Given the description of an element on the screen output the (x, y) to click on. 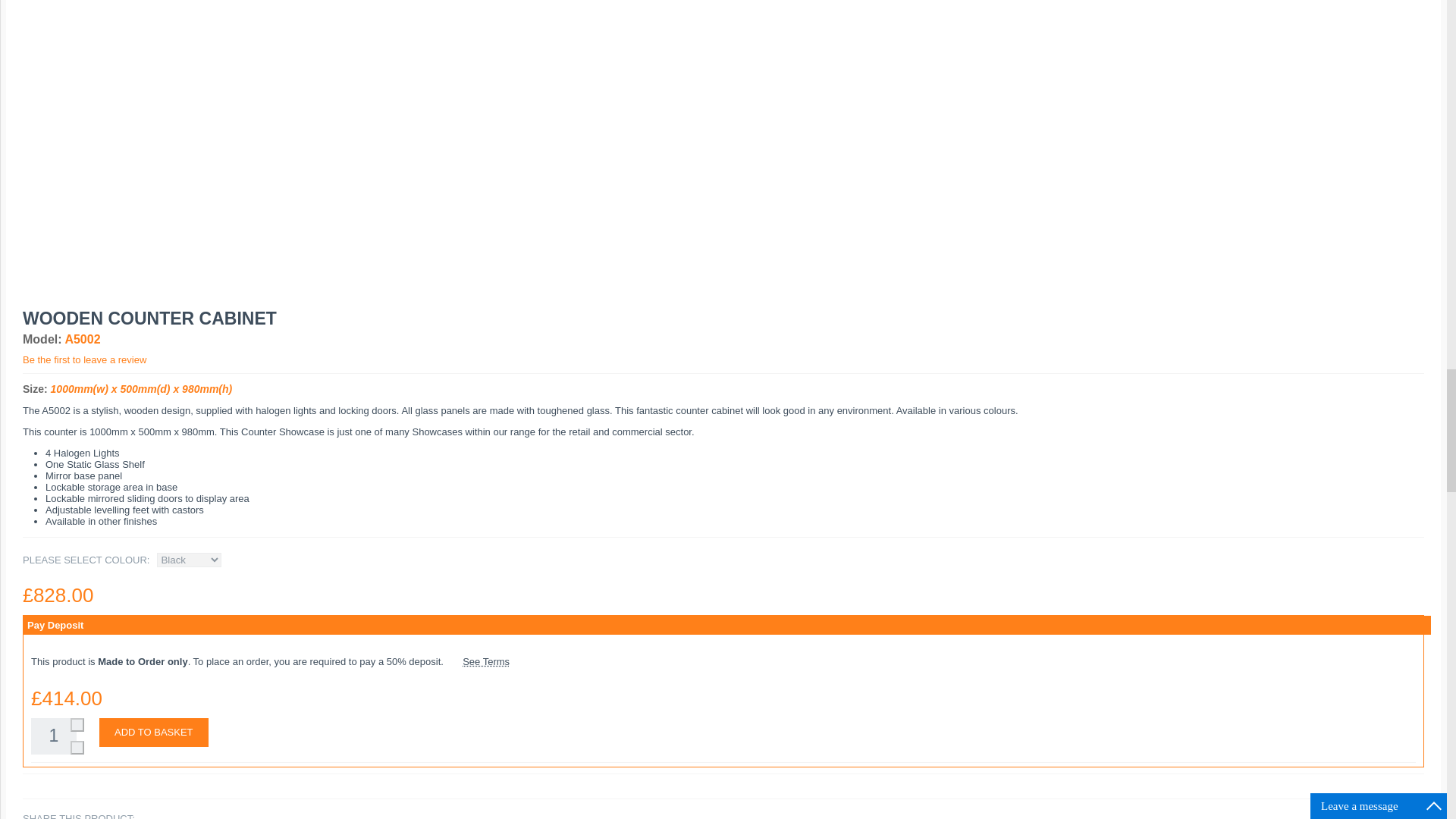
1 (53, 736)
